Given the description of an element on the screen output the (x, y) to click on. 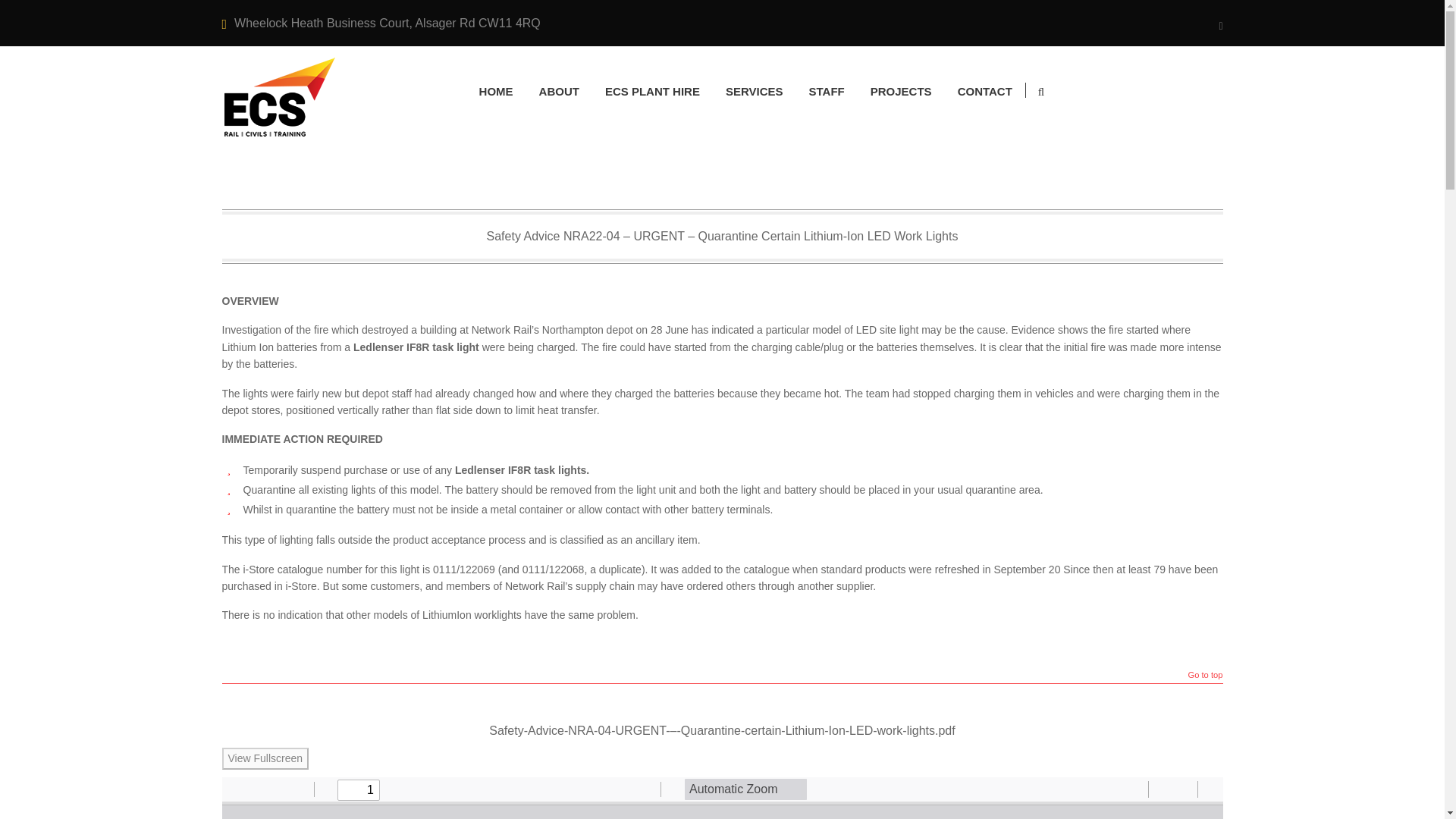
View Fullscreen (264, 758)
STAFF (826, 90)
HOME (496, 90)
PROJECTS (900, 90)
SERVICES (754, 90)
ECS PLANT HIRE (652, 90)
ABOUT (558, 90)
Search (1038, 154)
CONTACT (984, 90)
Go to top (1205, 676)
View Fullscreen (264, 758)
